Given the description of an element on the screen output the (x, y) to click on. 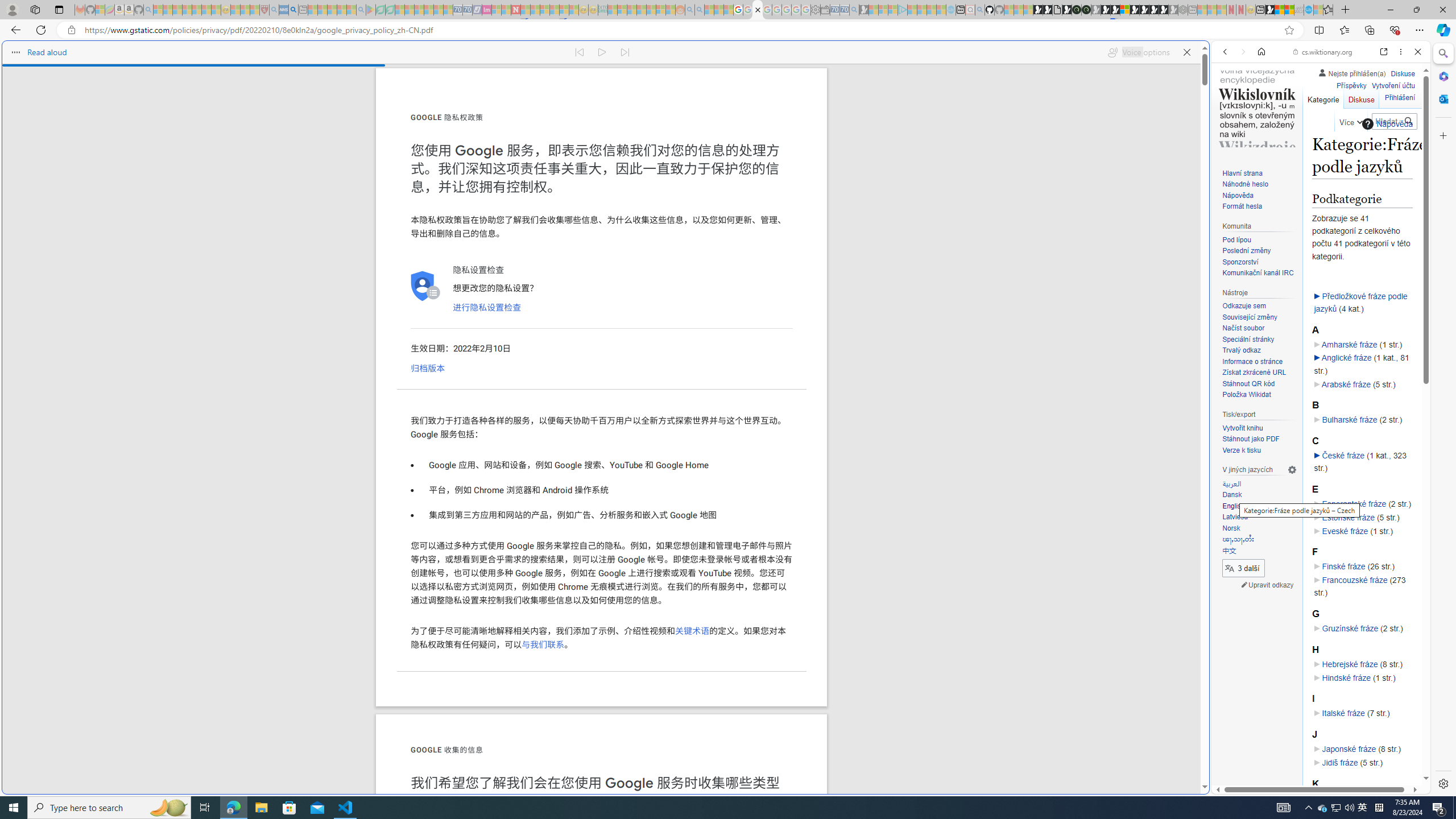
World - MSN (727, 389)
cs.wiktionary.org (1322, 51)
Actions for this site (1370, 583)
Pets - MSN - Sleeping (340, 9)
Microsoft Start Gaming - Sleeping (863, 9)
github - Search - Sleeping (979, 9)
